Given the description of an element on the screen output the (x, y) to click on. 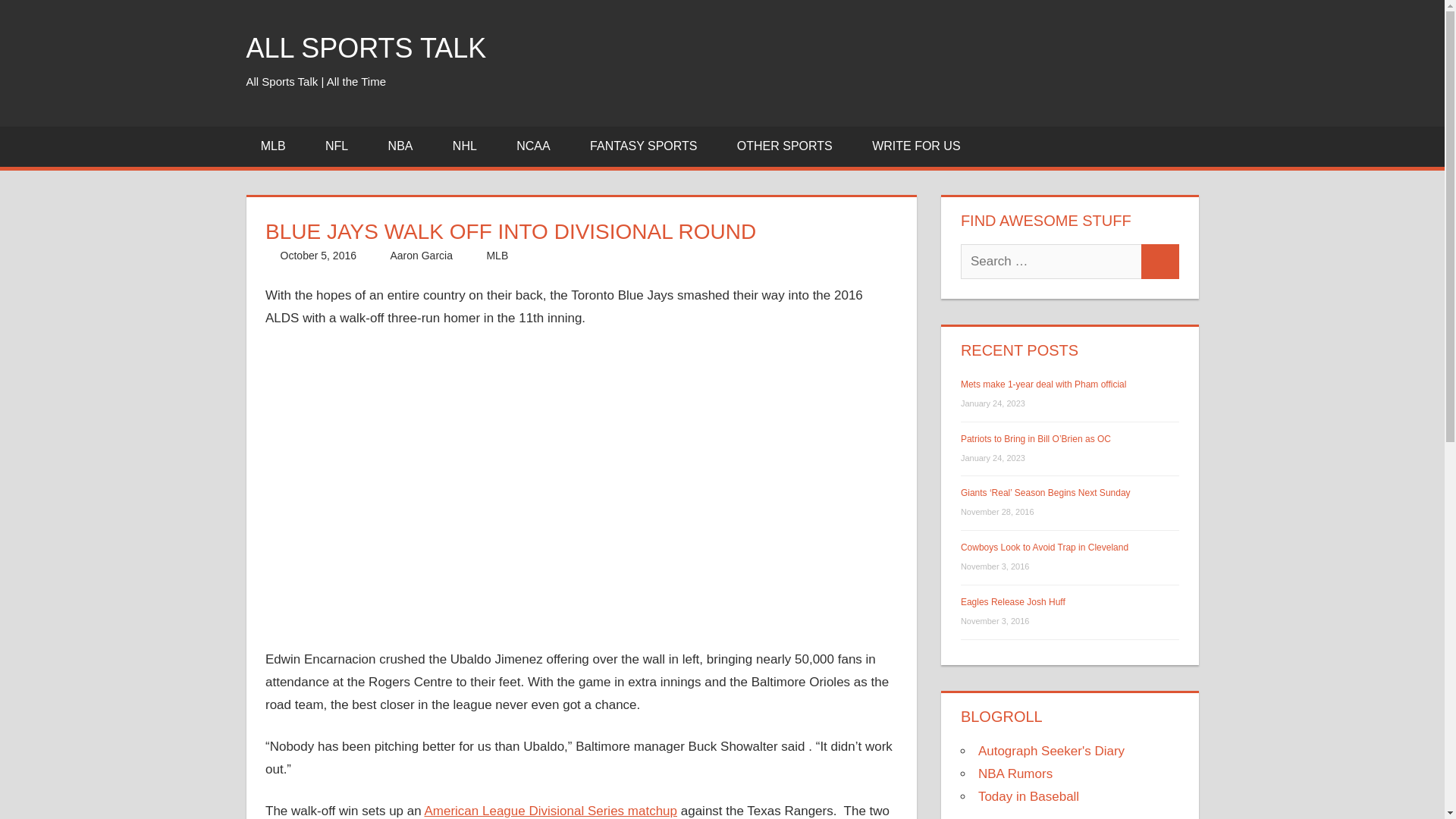
FANTASY SPORTS (648, 146)
WRITE FOR US (916, 146)
ALL SPORTS TALK (366, 47)
October 5, 2016 (318, 255)
OTHER SPORTS (789, 146)
NCAA (538, 146)
8:18 am (318, 255)
NBA (405, 146)
Search for: (1050, 261)
View all posts by Aaron Garcia (420, 255)
NHL (470, 146)
NFL (342, 146)
Aaron Garcia (420, 255)
NBA Rumors (1015, 773)
MLB (278, 146)
